Given the description of an element on the screen output the (x, y) to click on. 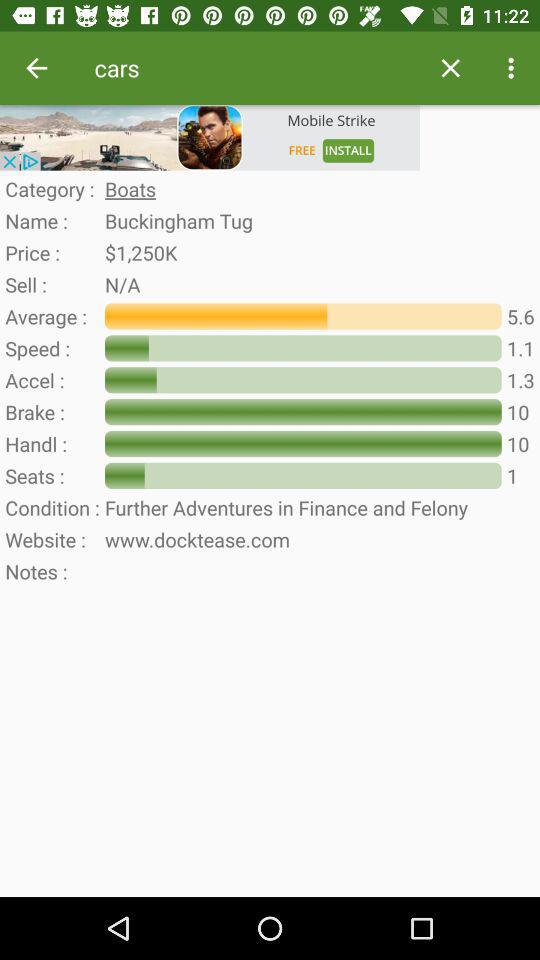
click advertisement banner to instal mobile strike app (210, 137)
